Given the description of an element on the screen output the (x, y) to click on. 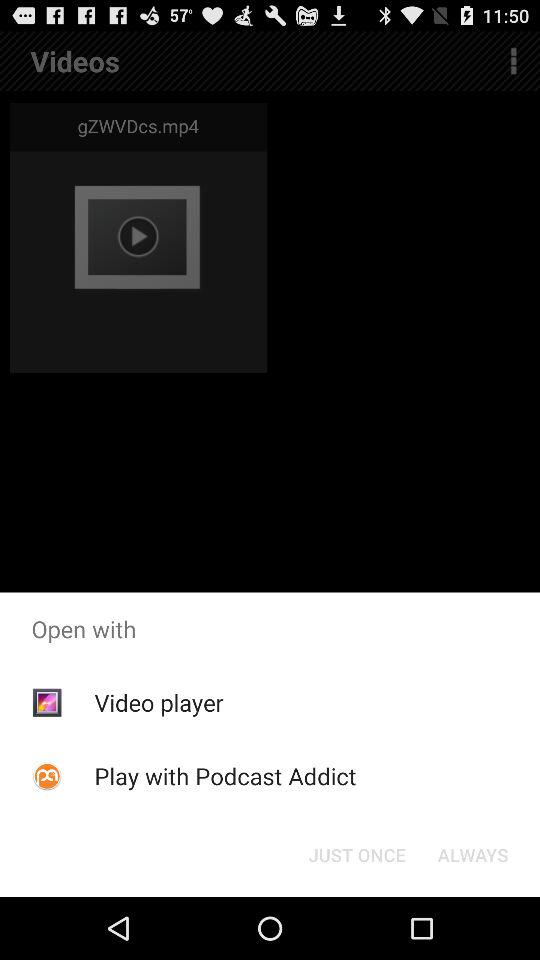
tap video player (158, 702)
